Given the description of an element on the screen output the (x, y) to click on. 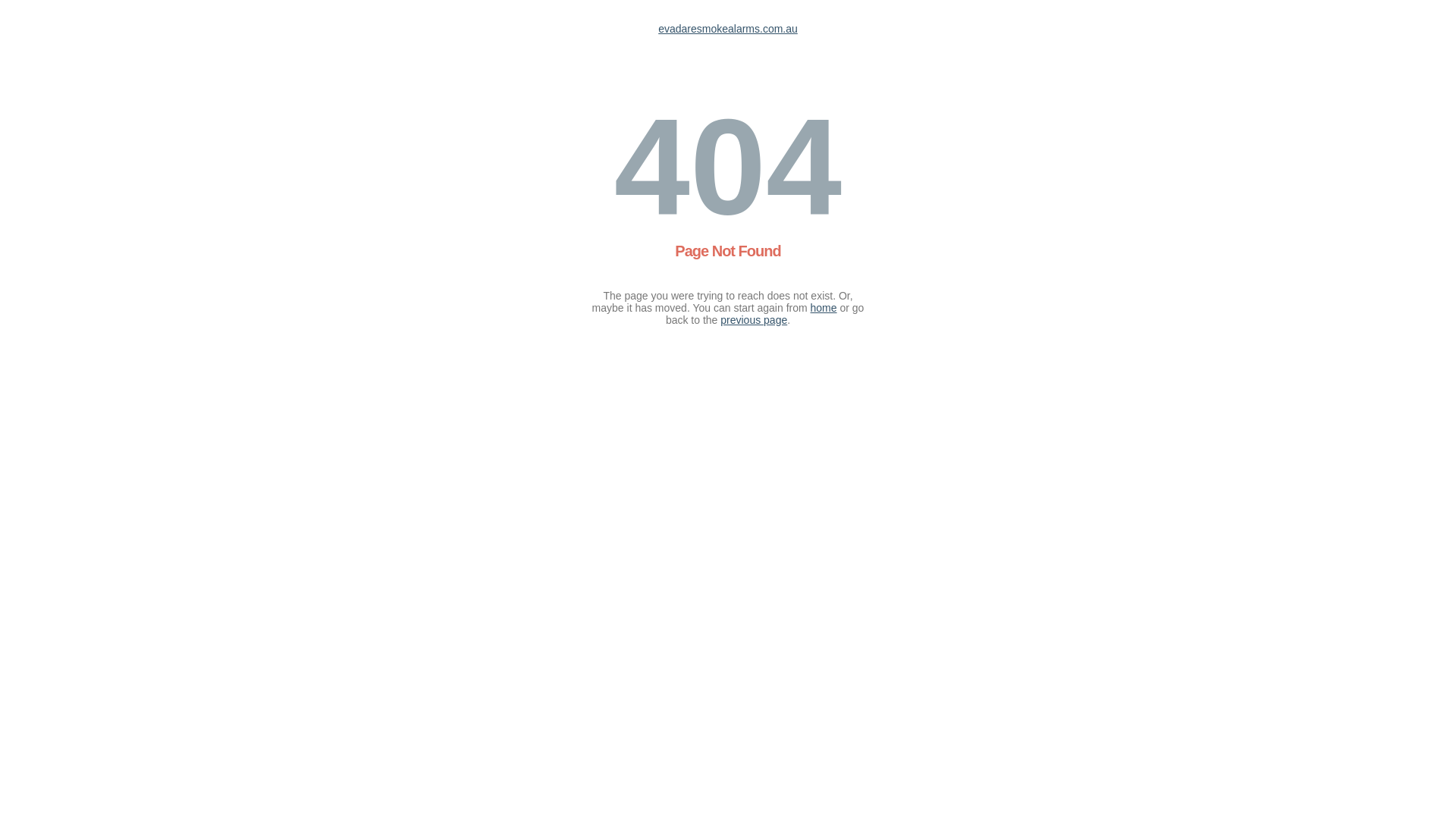
previous page Element type: text (753, 319)
evadaresmokealarms.com.au Element type: text (727, 28)
home Element type: text (823, 307)
